Given the description of an element on the screen output the (x, y) to click on. 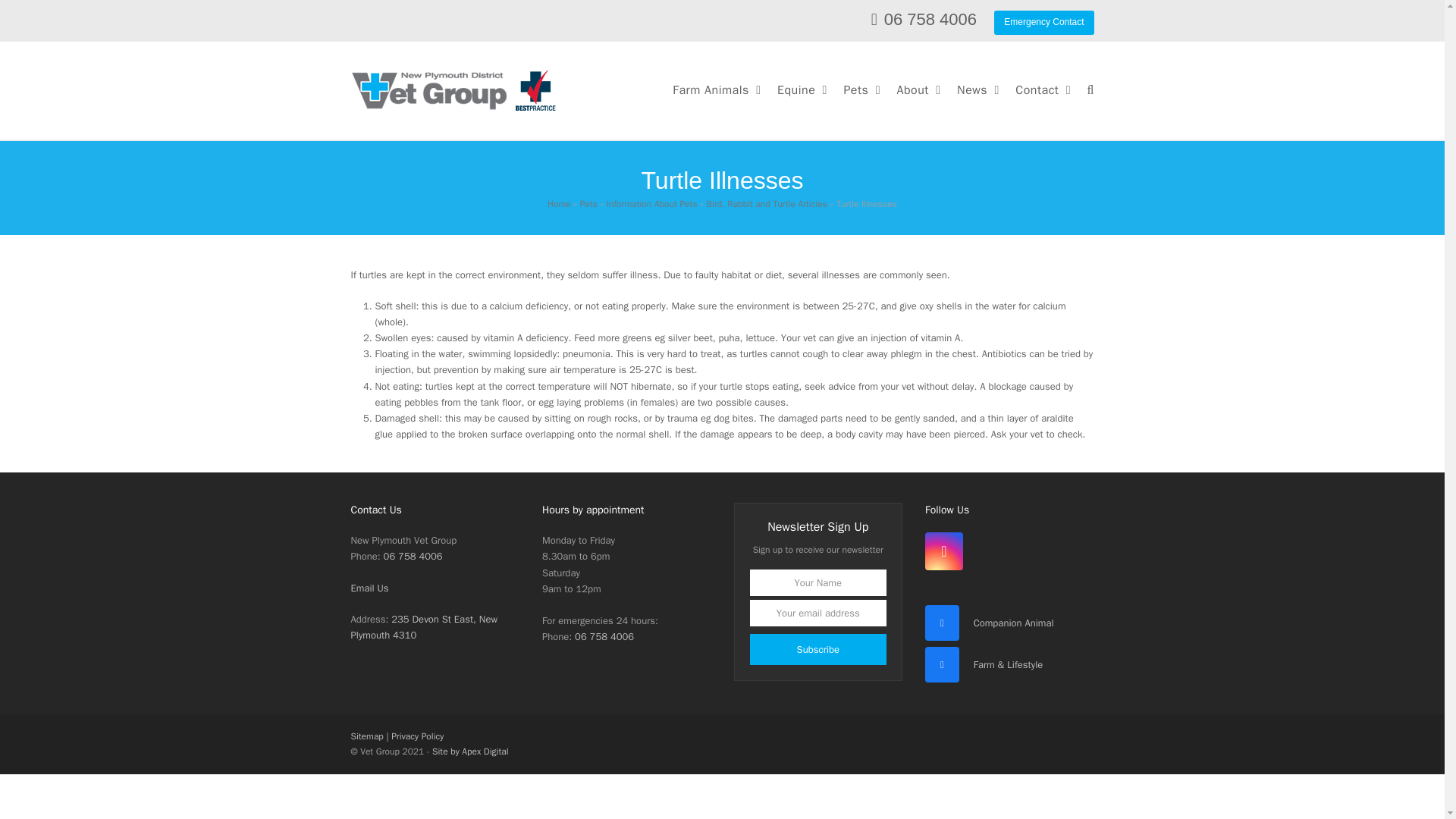
Instagram (943, 551)
Facebook (941, 622)
Farm Animals (716, 90)
Emergency Contact (1043, 21)
Emergency Contact (1043, 23)
06 758 4006 (929, 18)
Facebook (941, 664)
